Given the description of an element on the screen output the (x, y) to click on. 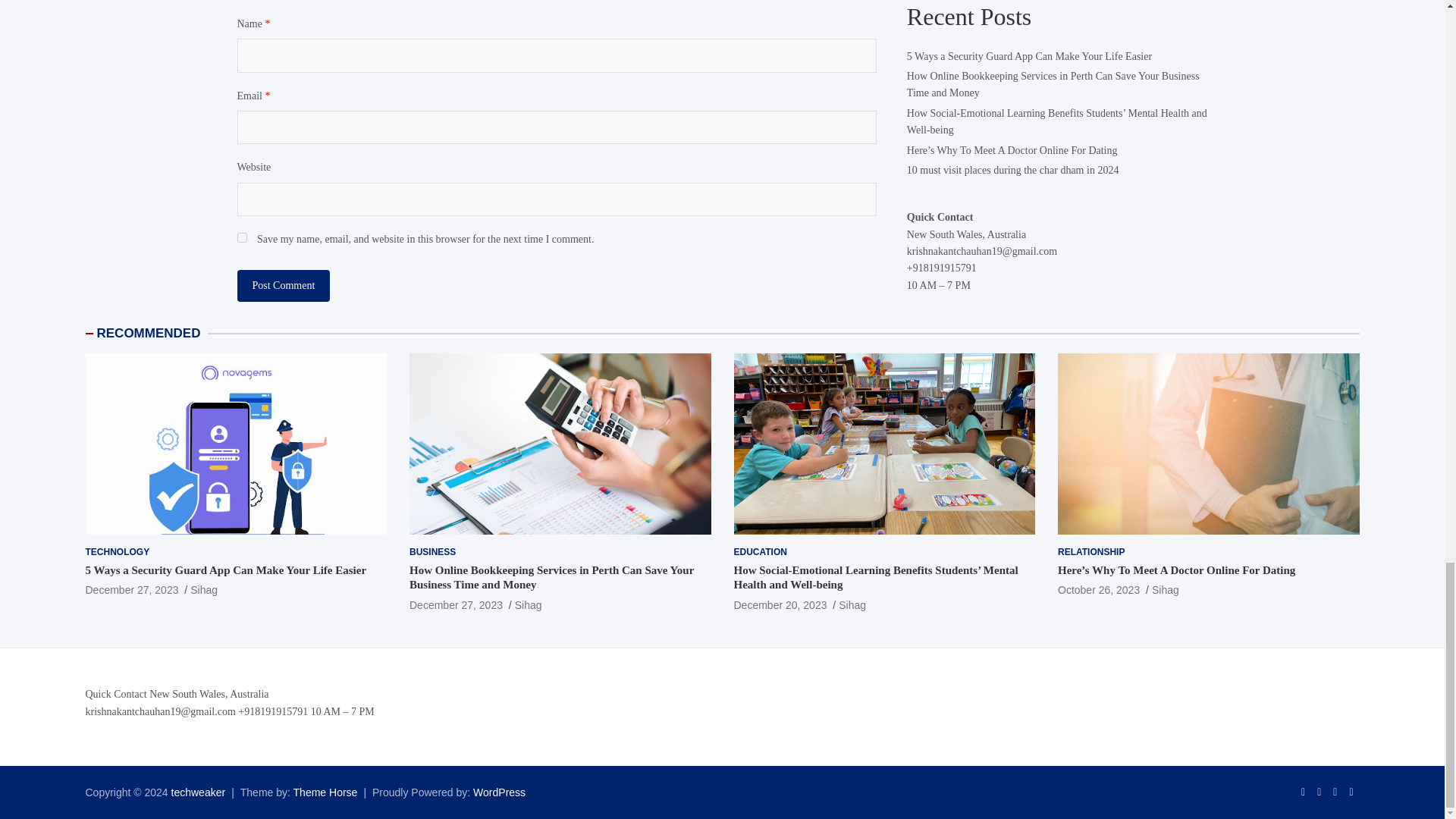
RECOMMENDED (148, 332)
techweaker (198, 792)
Post Comment (282, 286)
Post Comment (282, 286)
WordPress (499, 792)
5 Ways a Security Guard App Can Make Your Life Easier (130, 589)
TECHNOLOGY (116, 552)
Theme Horse (326, 792)
yes (240, 237)
